Given the description of an element on the screen output the (x, y) to click on. 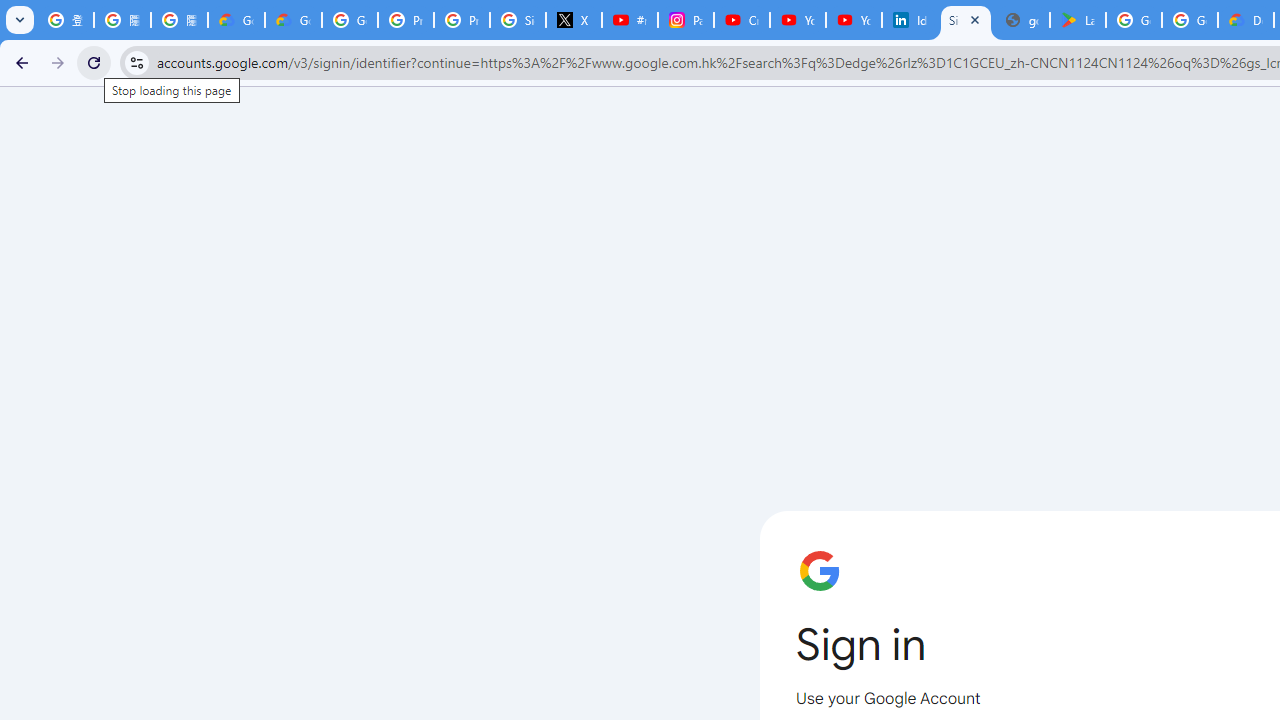
Last Shelter: Survival - Apps on Google Play (1077, 20)
Privacy Help Center - Policies Help (461, 20)
Sign in - Google Accounts (966, 20)
Google Cloud Privacy Notice (293, 20)
YouTube Culture & Trends - YouTube Top 10, 2021 (853, 20)
X (573, 20)
